Given the description of an element on the screen output the (x, y) to click on. 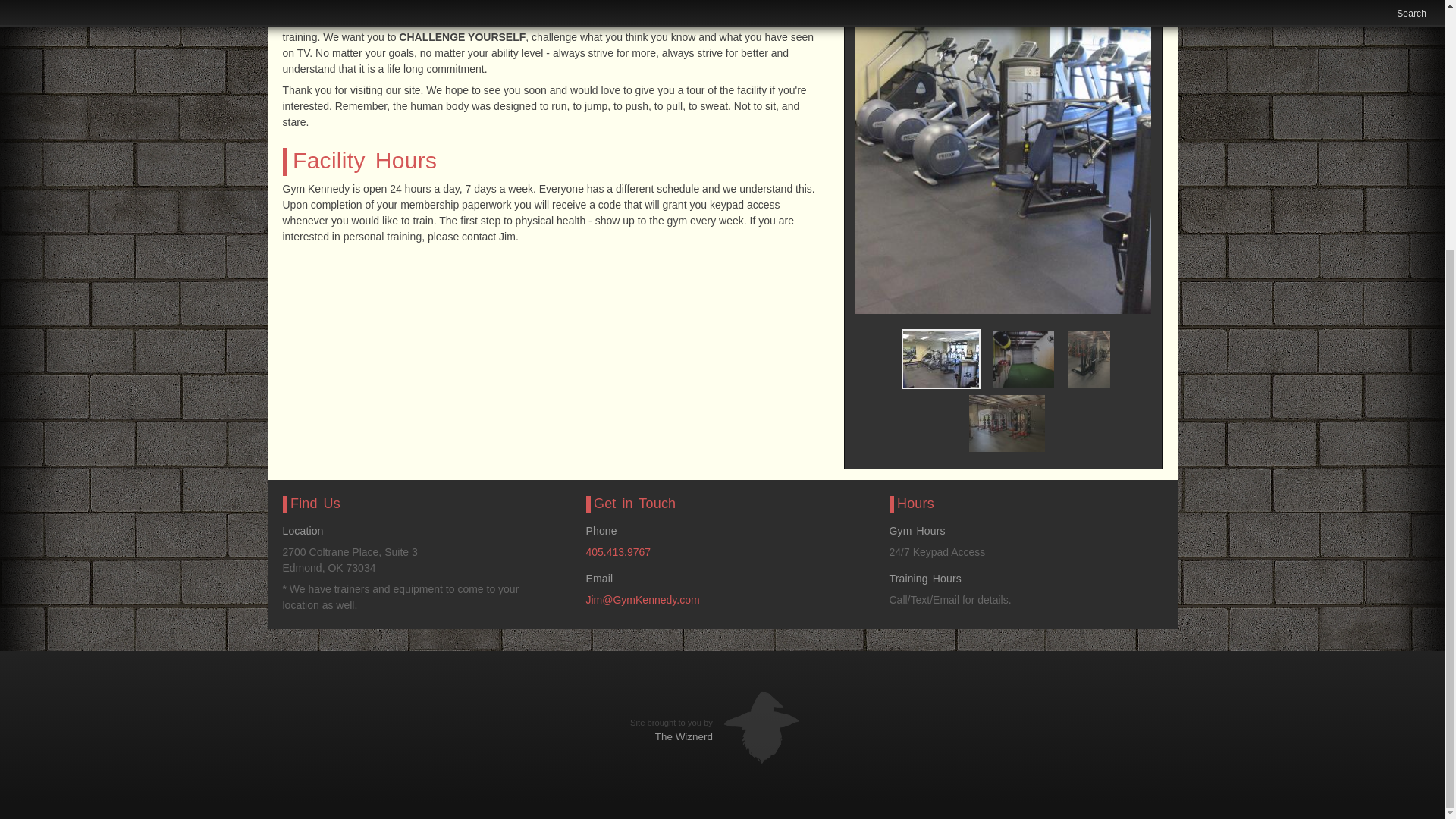
405.413.9767 (617, 551)
The Wiznerd (684, 736)
Gym Kennedy (940, 359)
Gym Kennedy (1003, 156)
3 - Double Racks (1007, 423)
Upstairs Turf (1023, 359)
